Given the description of an element on the screen output the (x, y) to click on. 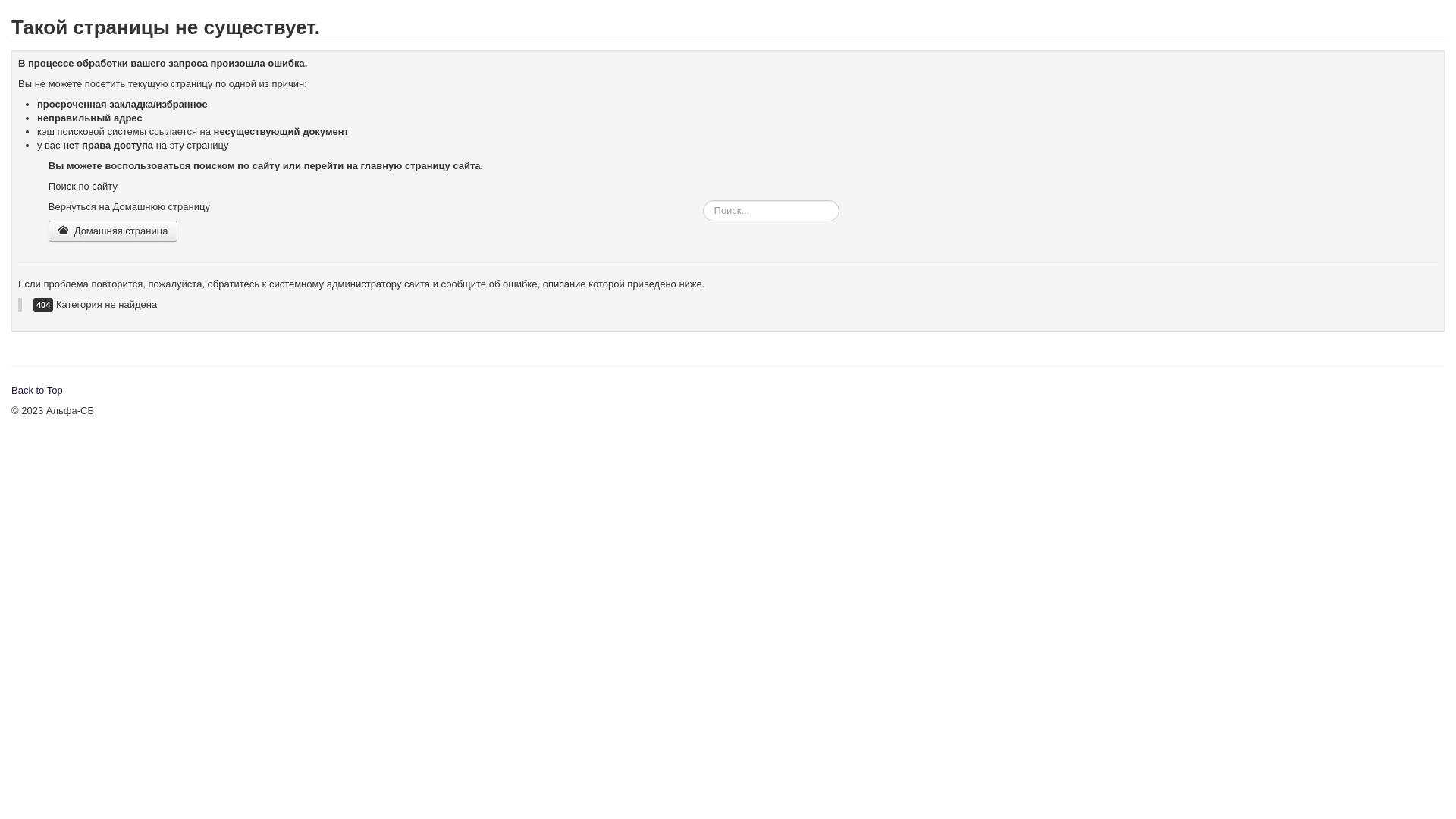
Back to Top Element type: text (36, 389)
